Given the description of an element on the screen output the (x, y) to click on. 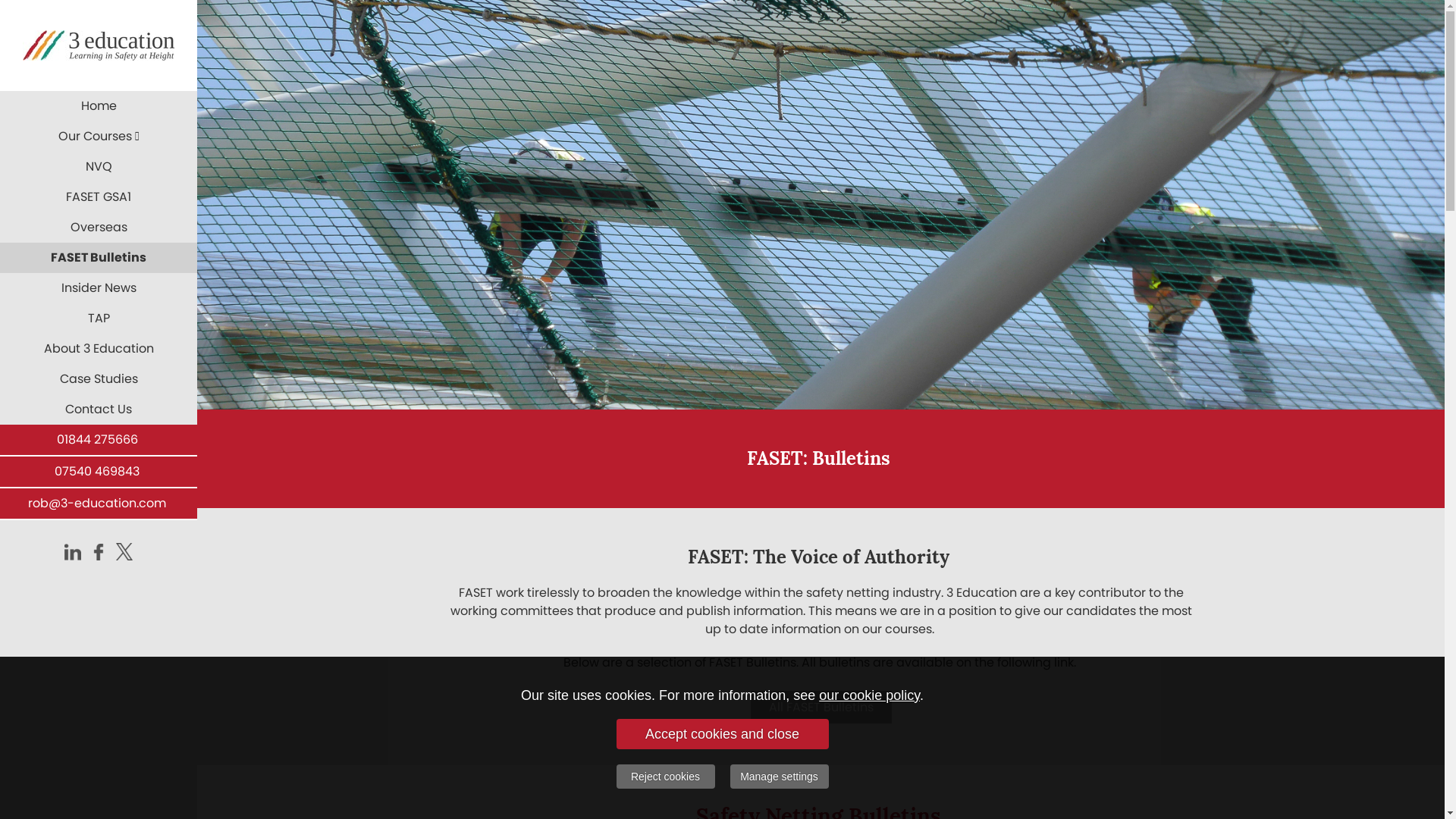
About 3 Education Element type: text (98, 348)
Case Studies Element type: text (98, 379)
Our Courses Element type: text (98, 136)
TAP Element type: text (98, 318)
Overseas Element type: text (98, 227)
Contact Us Element type: text (98, 409)
Home Element type: text (98, 106)
Insider News Element type: text (98, 288)
01844 275666 Element type: text (96, 439)
Manage settings Element type: text (778, 776)
FASET GSA1 Element type: text (98, 197)
our cookie policy Element type: text (869, 694)
NVQ Element type: text (98, 166)
All FASET Bulletins Element type: text (820, 706)
07540 469843 Element type: text (96, 471)
rob@3-education.com Element type: text (97, 502)
